Given the description of an element on the screen output the (x, y) to click on. 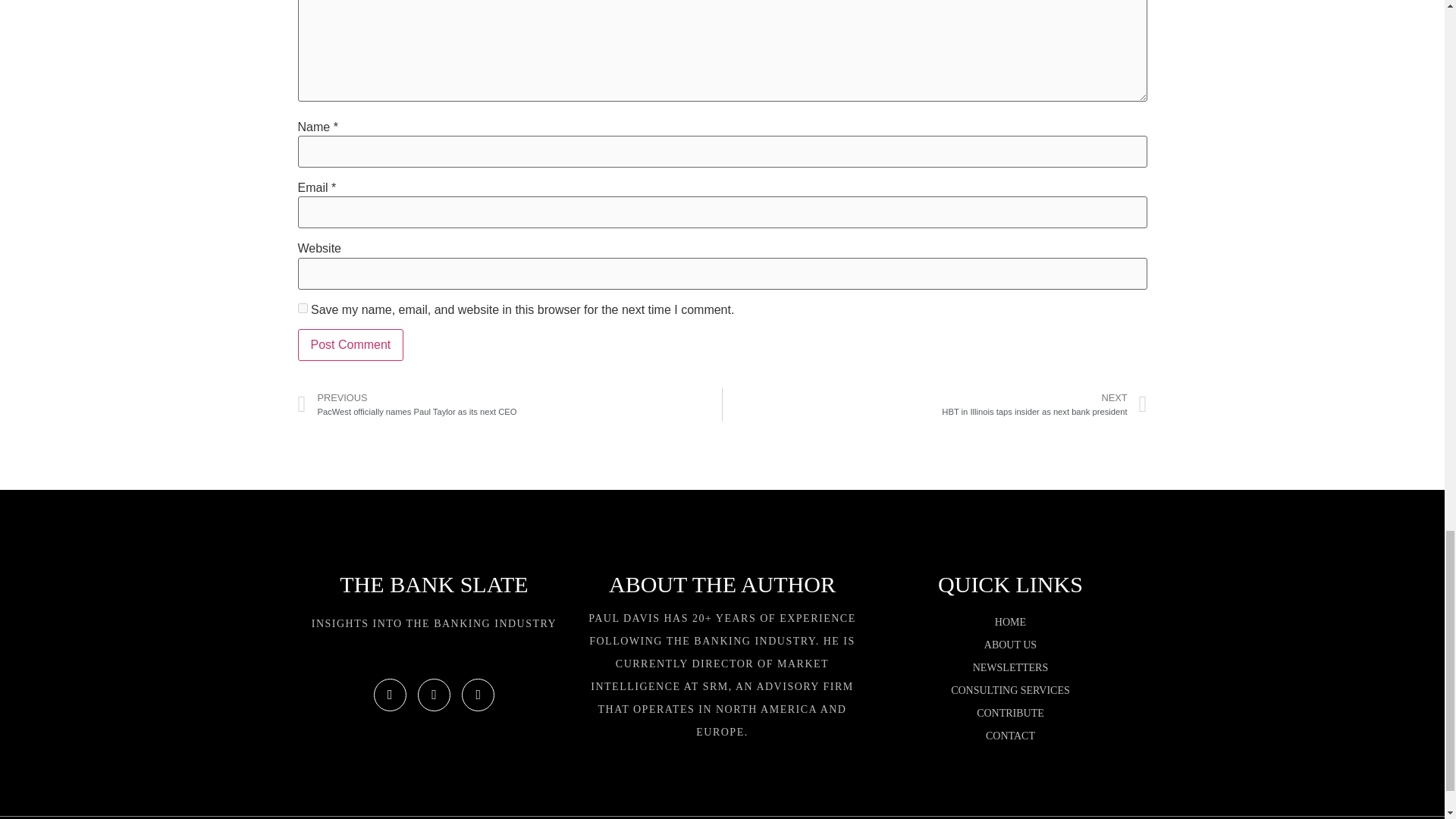
Post Comment (350, 345)
HOME (1010, 621)
CONSULTING SERVICES (1044, 404)
Post Comment (1010, 690)
CONTACT (350, 345)
NEWSLETTERS (1010, 735)
yes (1010, 667)
CONTRIBUTE (302, 307)
